Given the description of an element on the screen output the (x, y) to click on. 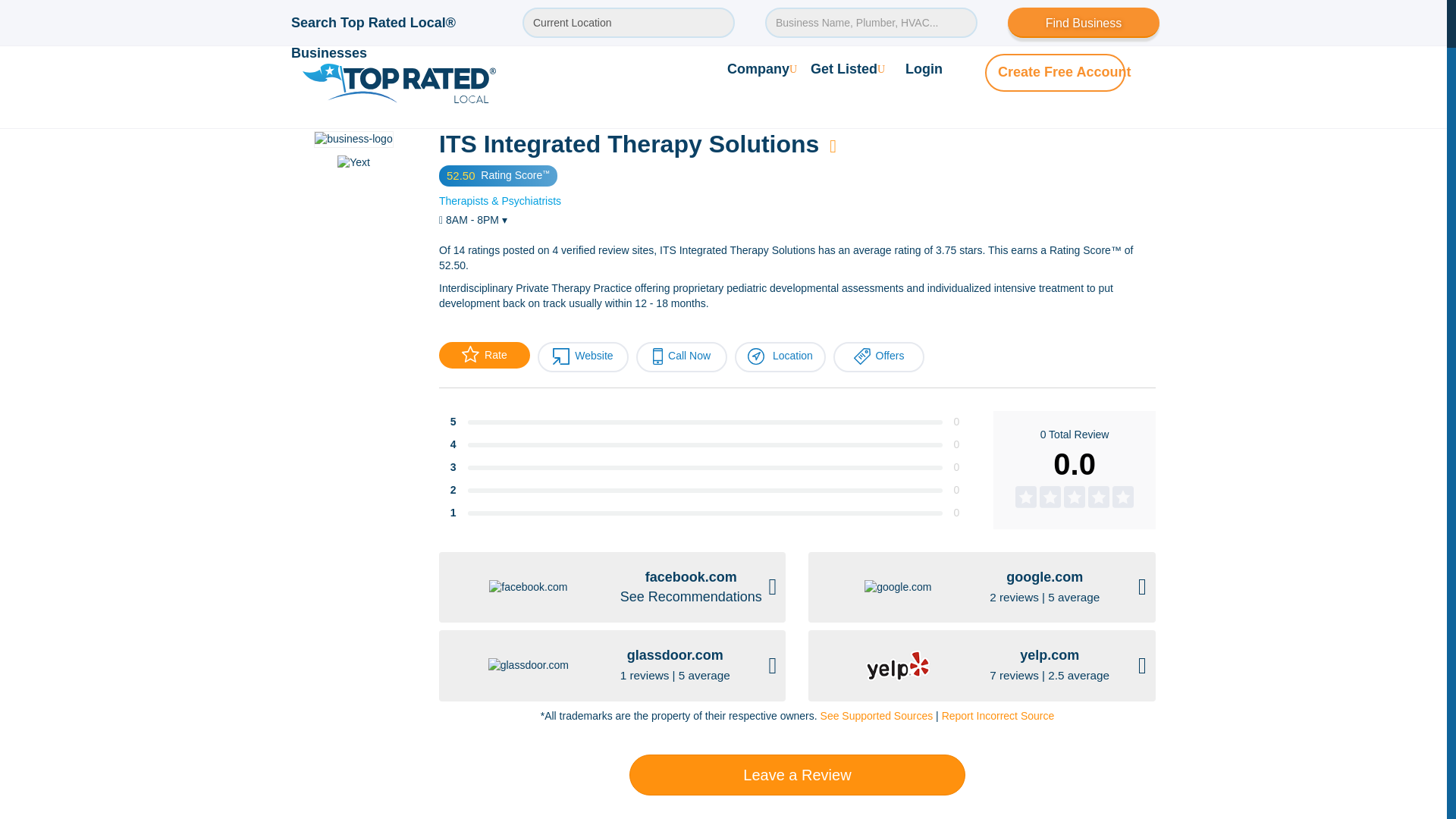
ITS Integrated Therapy Solutions (655, 92)
Get Listed (847, 17)
Hawthorne, California (367, 92)
Login (923, 17)
Rate (484, 355)
Website (582, 357)
Company (761, 17)
Home (294, 92)
Create Free Account (1064, 20)
